Given the description of an element on the screen output the (x, y) to click on. 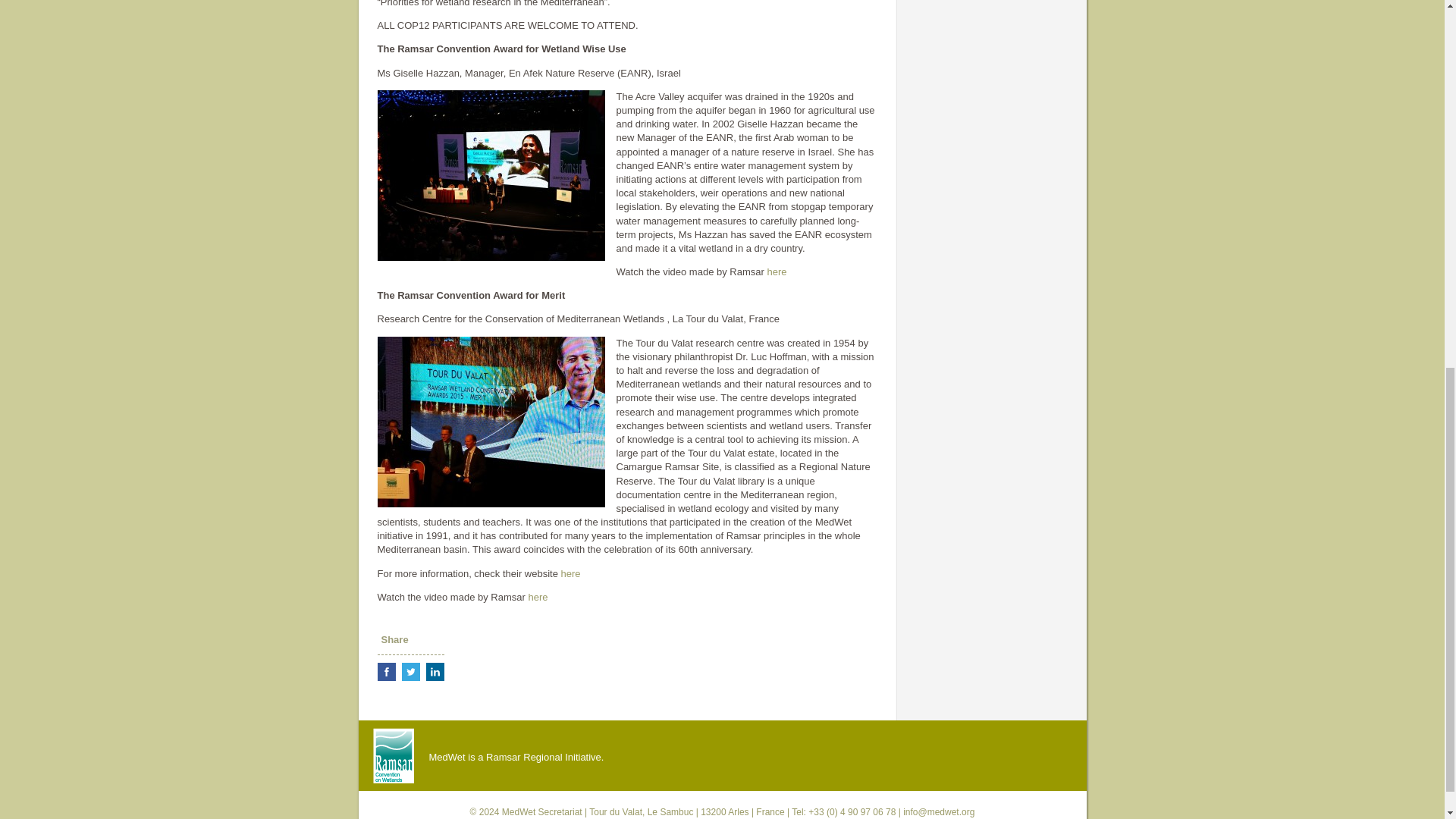
MedWet Secretariat (542, 811)
Share this post on Facebook (386, 671)
here (537, 596)
Share on LinkedIn (435, 671)
Share on Twitter (410, 671)
Share this post on LinkedIn (435, 671)
Share this post on Twitter (410, 671)
Share on Facebook (386, 671)
here (570, 573)
